Given the description of an element on the screen output the (x, y) to click on. 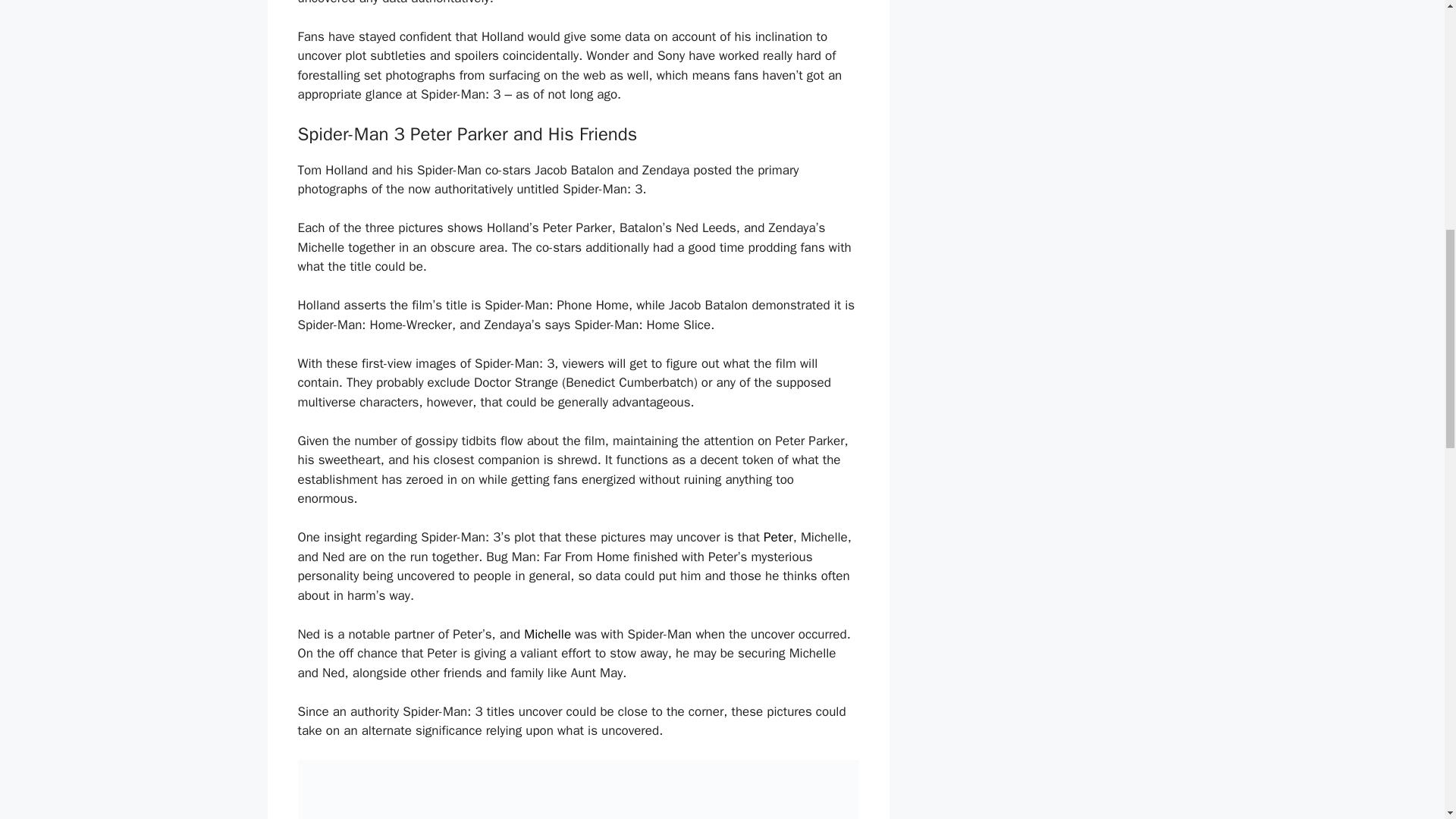
Scroll back to top (1406, 720)
